Given the description of an element on the screen output the (x, y) to click on. 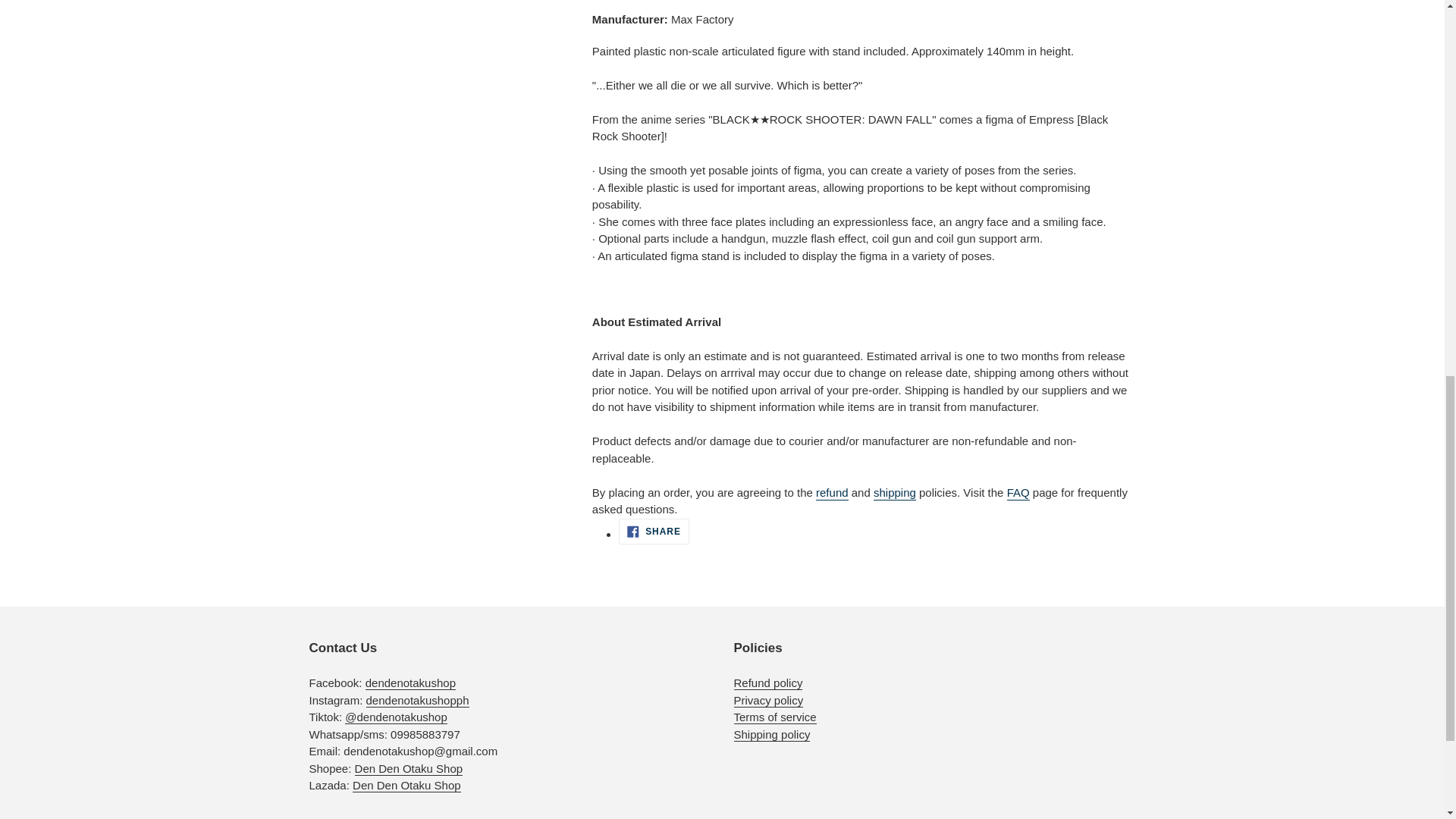
Privacy Policy (768, 700)
Terms of Service (774, 716)
Refund Policy (768, 683)
Shipping Policy (771, 735)
